Given the description of an element on the screen output the (x, y) to click on. 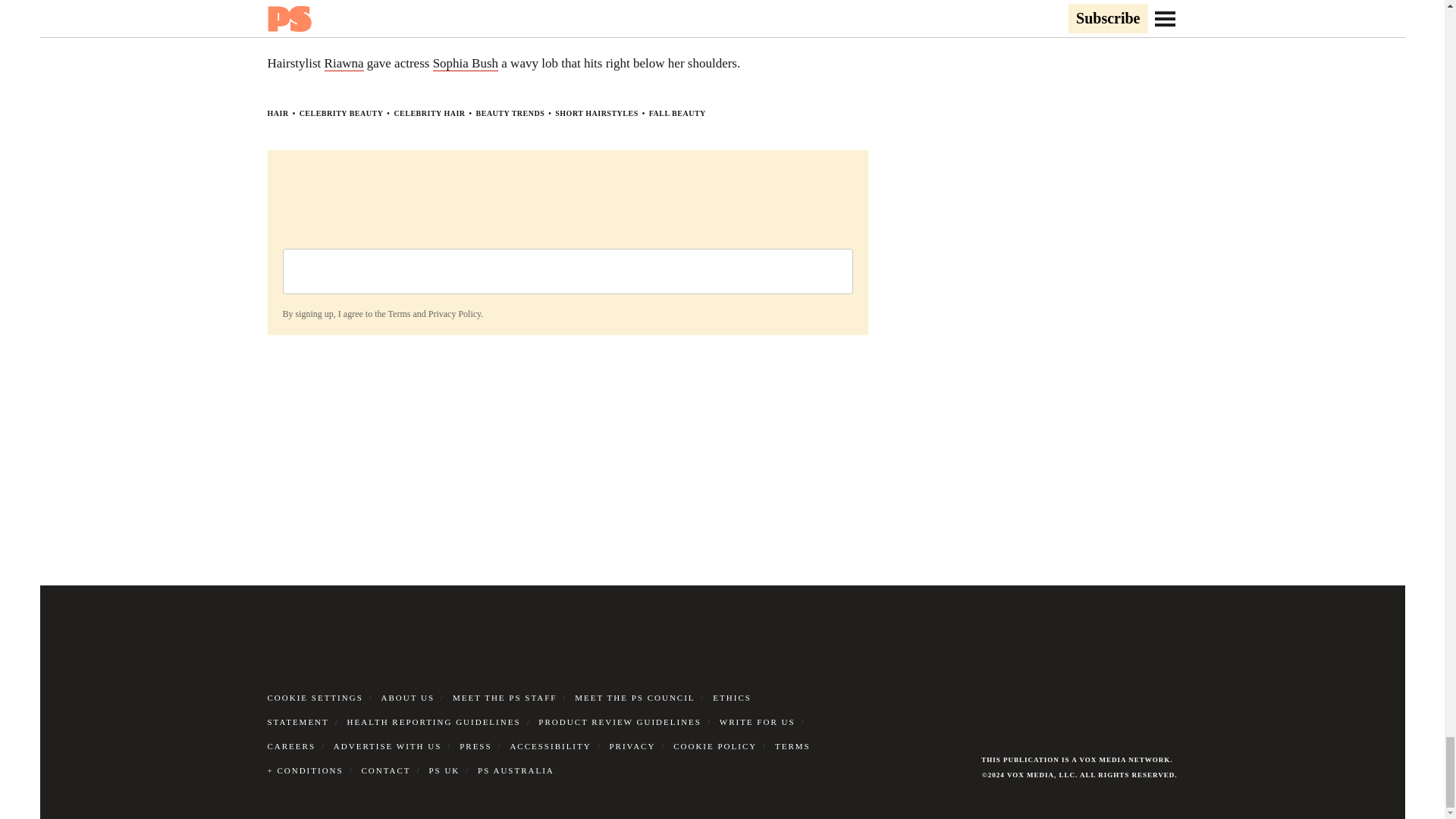
FALL BEAUTY (677, 112)
Privacy Policy. (455, 312)
Sophia Bush (464, 63)
CELEBRITY HAIR (428, 112)
Riawna (344, 63)
CELEBRITY BEAUTY (341, 112)
HAIR (277, 112)
Terms (399, 312)
BEAUTY TRENDS (510, 112)
SHORT HAIRSTYLES (595, 112)
